Given the description of an element on the screen output the (x, y) to click on. 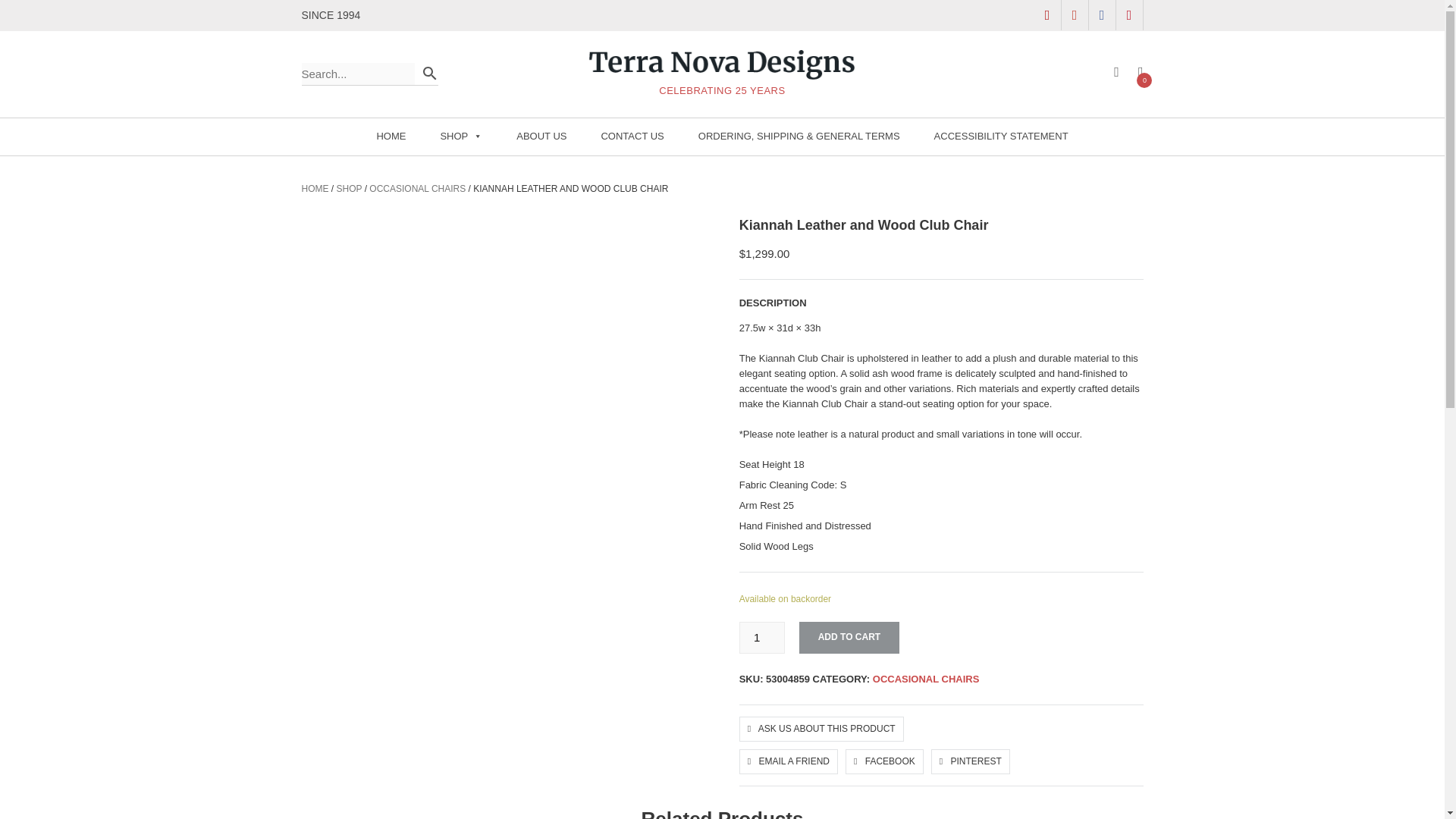
1 (761, 637)
CONTACT US (631, 136)
HOME (315, 188)
Connect with Google Plus, link will open in new window (1075, 15)
Connect with Yelp, link will open in new window (1047, 15)
OCCASIONAL CHAIRS (417, 188)
SHOP (460, 136)
SHOP (349, 188)
ABOUT US (541, 136)
Connect with Pinterest, link will open in new window (1129, 15)
ACCESSIBILITY STATEMENT (1001, 136)
Connect with facebook, link will open in new window (1102, 15)
